Given the description of an element on the screen output the (x, y) to click on. 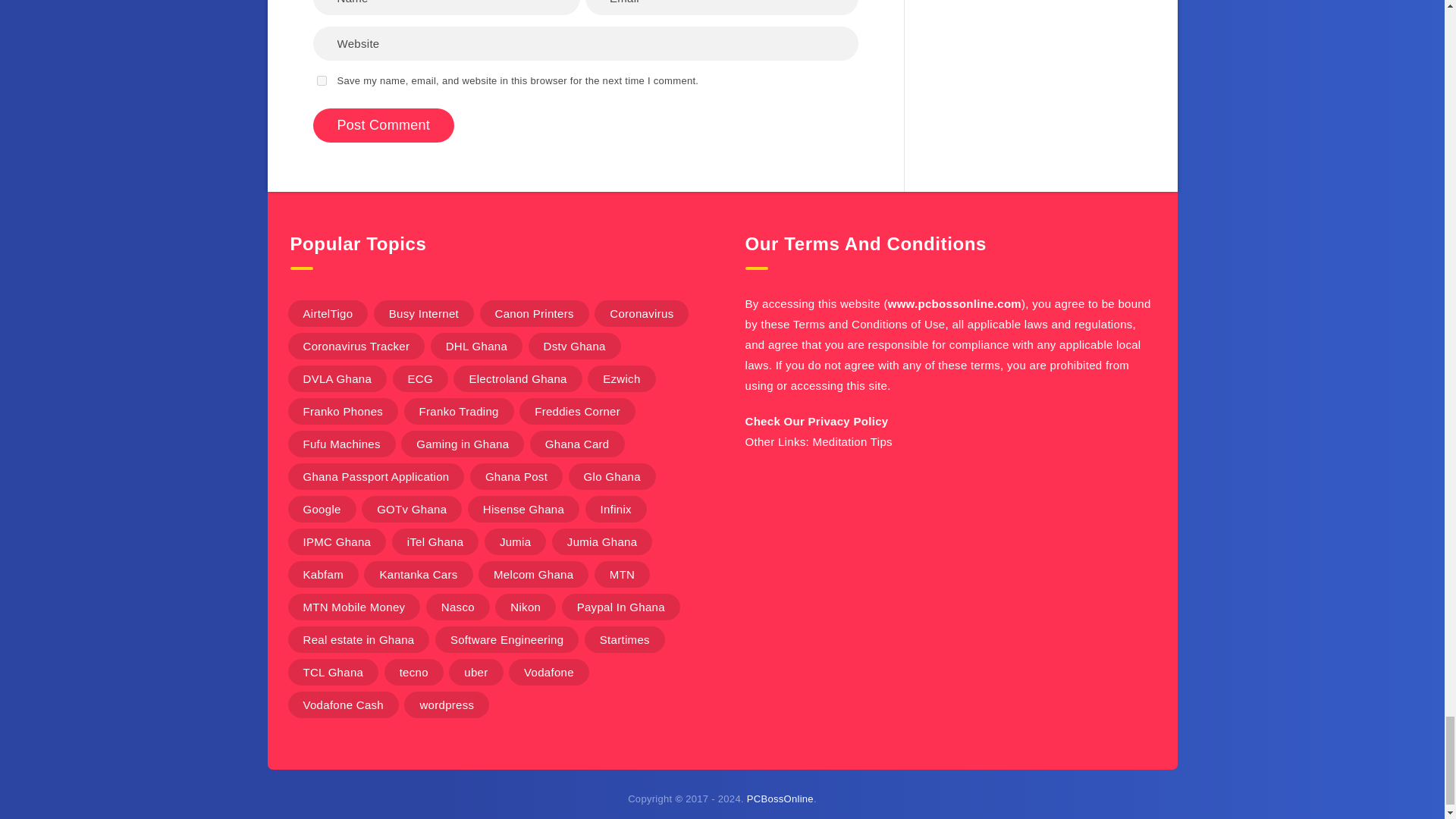
Post Comment (383, 125)
yes (321, 80)
